Given the description of an element on the screen output the (x, y) to click on. 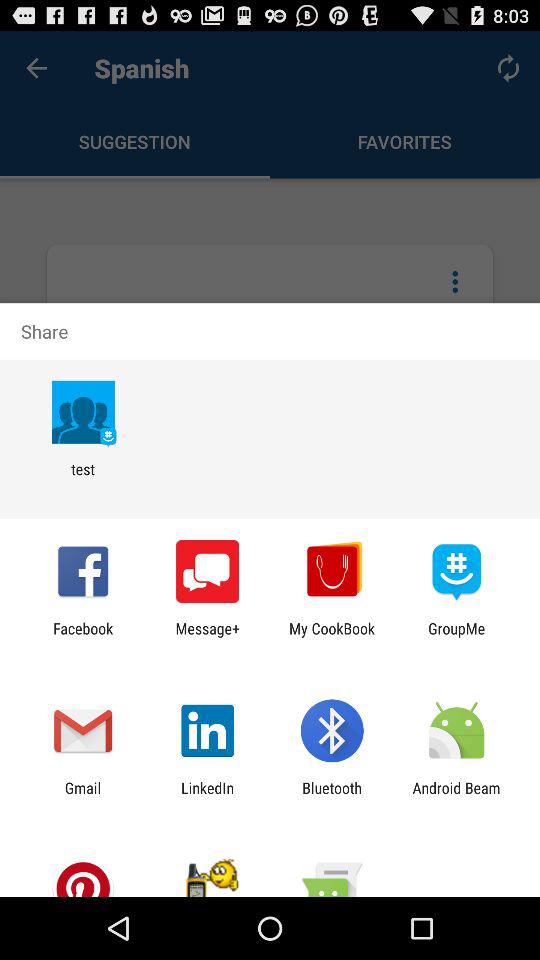
swipe to facebook icon (83, 637)
